Given the description of an element on the screen output the (x, y) to click on. 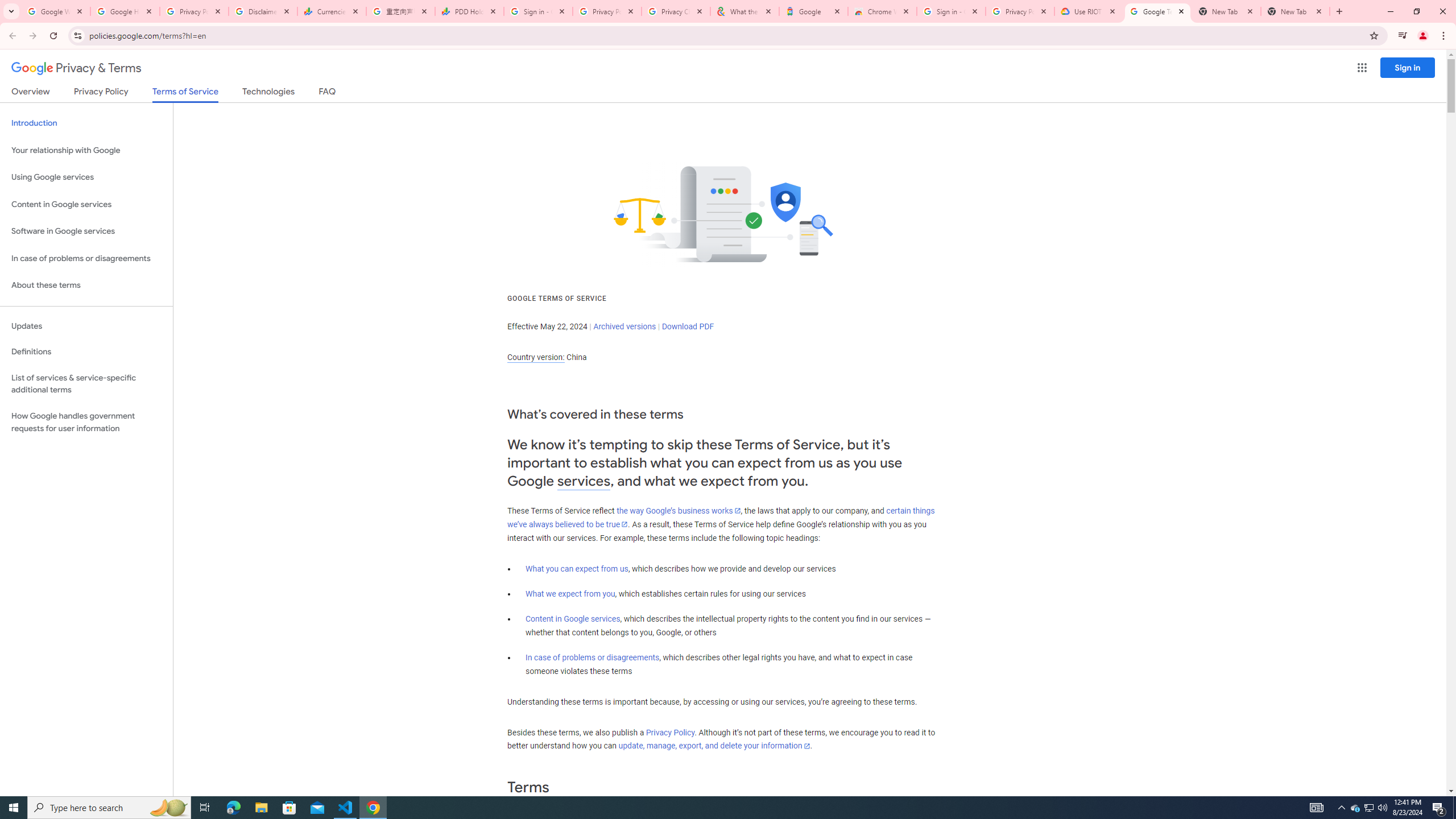
Using Google services (86, 176)
Updates (86, 325)
update, manage, export, and delete your information (714, 746)
Country version: (535, 357)
services (583, 480)
Sign in - Google Accounts (950, 11)
